Given the description of an element on the screen output the (x, y) to click on. 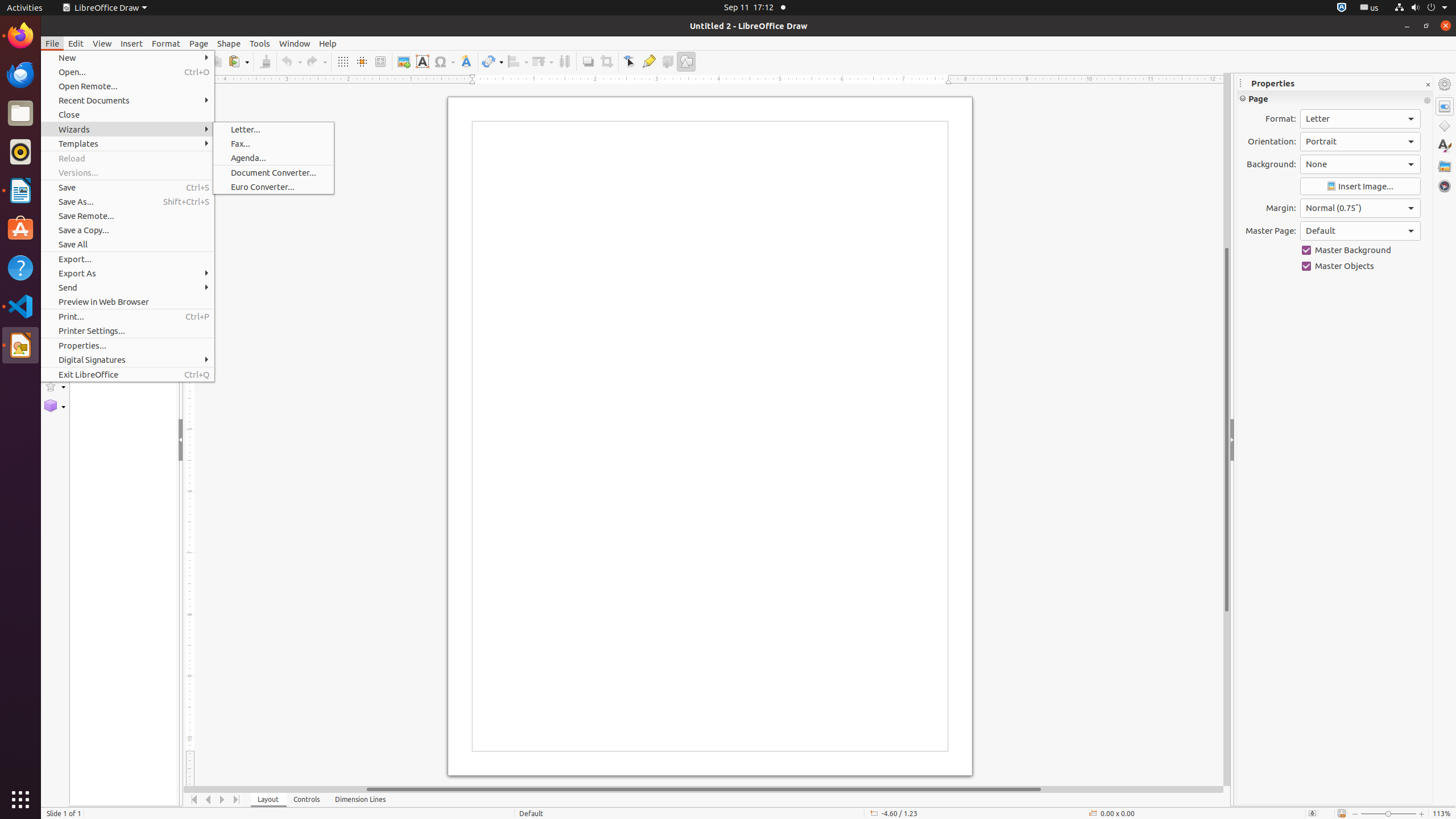
Draw Functions Element type: toggle-button (685, 61)
Euro Converter... Element type: menu-item (273, 186)
Edit Element type: menu (75, 43)
More Options Element type: push-button (1426, 100)
Wizards Element type: menu (127, 129)
